Given the description of an element on the screen output the (x, y) to click on. 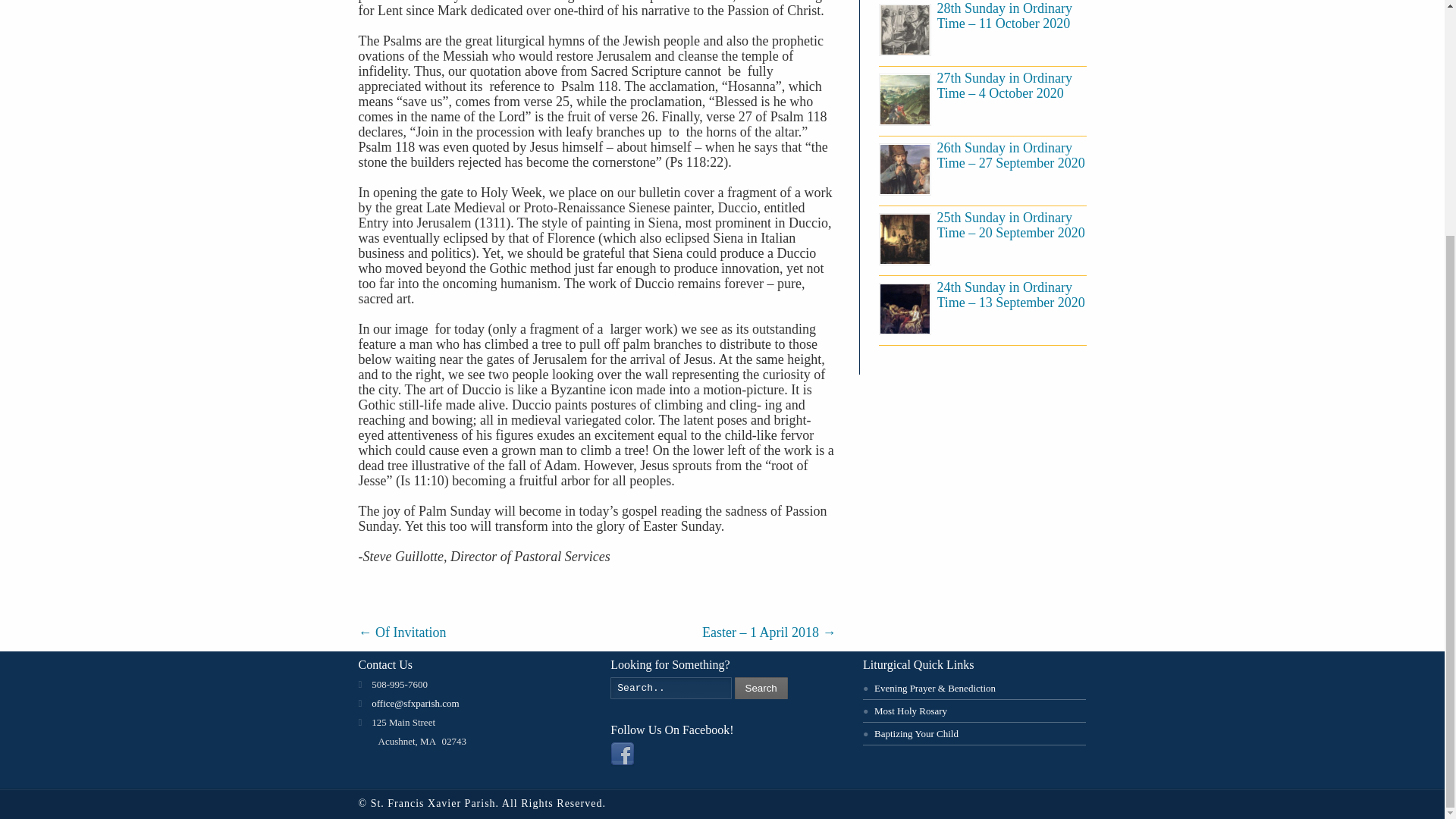
Search.. (671, 688)
